Given the description of an element on the screen output the (x, y) to click on. 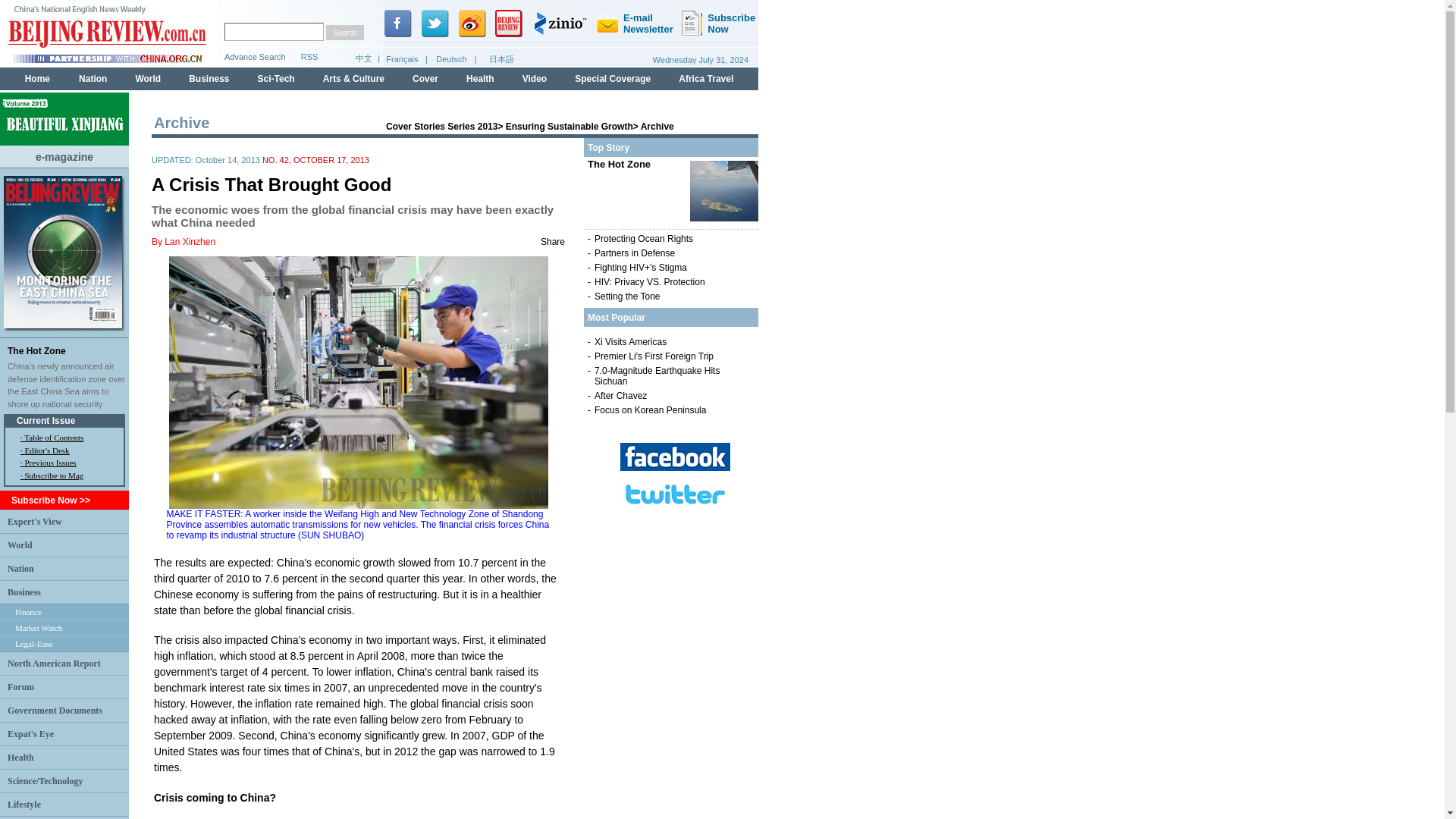
Current Issue (45, 420)
Legal-Ease (33, 643)
Expat's Eye (30, 733)
Previous Issues (49, 461)
e-magazine (63, 155)
North American Report (53, 663)
Health (20, 757)
Expert's View (34, 520)
Table of Contents (53, 437)
Business (23, 592)
Lifestyle (23, 804)
Editor's Desk (46, 450)
Finance (28, 611)
Forum (20, 685)
Market Watch (38, 627)
